Given the description of an element on the screen output the (x, y) to click on. 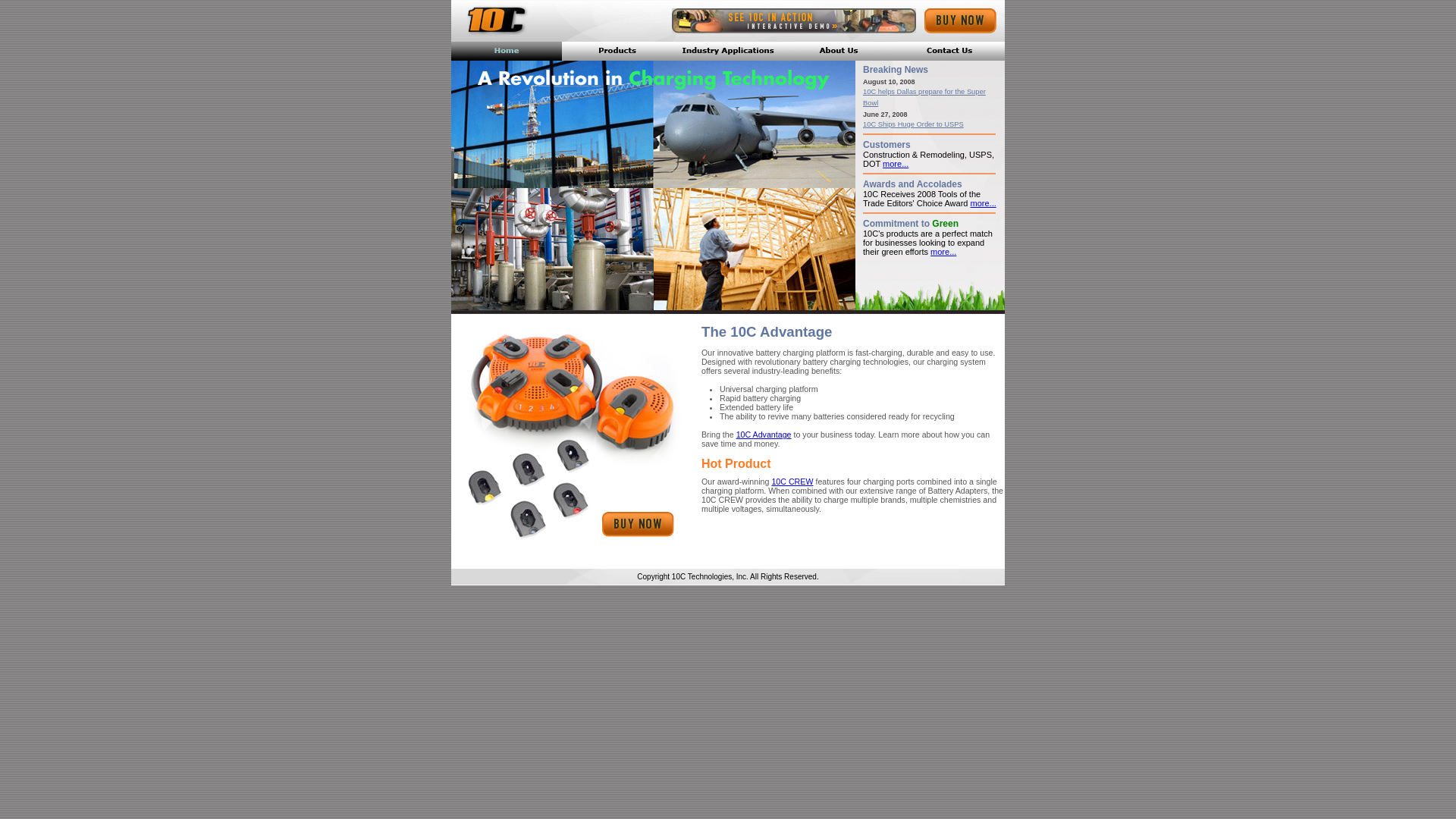
10C helps Dallas prepare for the Super Bowl Element type: text (923, 96)
Home Element type: hover (506, 50)
Products Element type: hover (616, 50)
10C CREW Element type: text (791, 481)
10C Ships Huge Order to USPS Element type: text (912, 124)
more... Element type: text (943, 251)
About Us Element type: hover (838, 50)
Contact Us Element type: hover (949, 50)
more... Element type: text (895, 163)
Home Element type: hover (494, 19)
Industry Applications Element type: hover (727, 50)
Buy Now Element type: hover (960, 20)
10C Advantage Element type: text (763, 434)
Interactive Demo Element type: hover (793, 20)
more... Element type: text (983, 202)
